Given the description of an element on the screen output the (x, y) to click on. 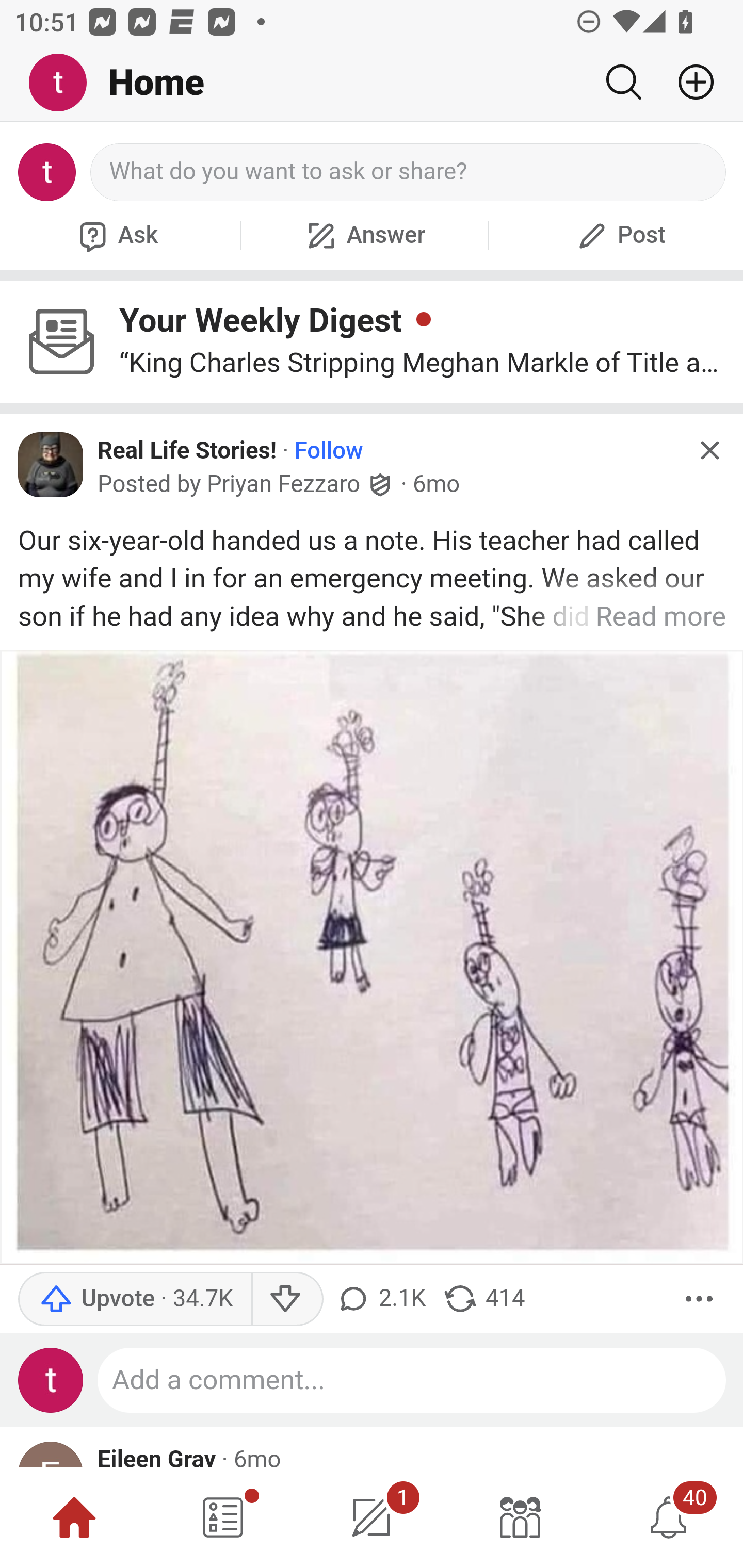
Me (64, 83)
Search (623, 82)
Add (688, 82)
What do you want to ask or share? (408, 172)
Ask (116, 234)
Answer (364, 234)
Post (618, 234)
Hide (709, 449)
Icon for Real Life Stories! (50, 465)
Real Life Stories! (187, 450)
Follow (328, 451)
Upvote (134, 1299)
Downvote (287, 1299)
2,161 comments (383, 1299)
414 shares (483, 1299)
More (699, 1299)
Profile photo for Test Appium (50, 1379)
Add a comment... (412, 1379)
1 (371, 1517)
40 (668, 1517)
